Given the description of an element on the screen output the (x, y) to click on. 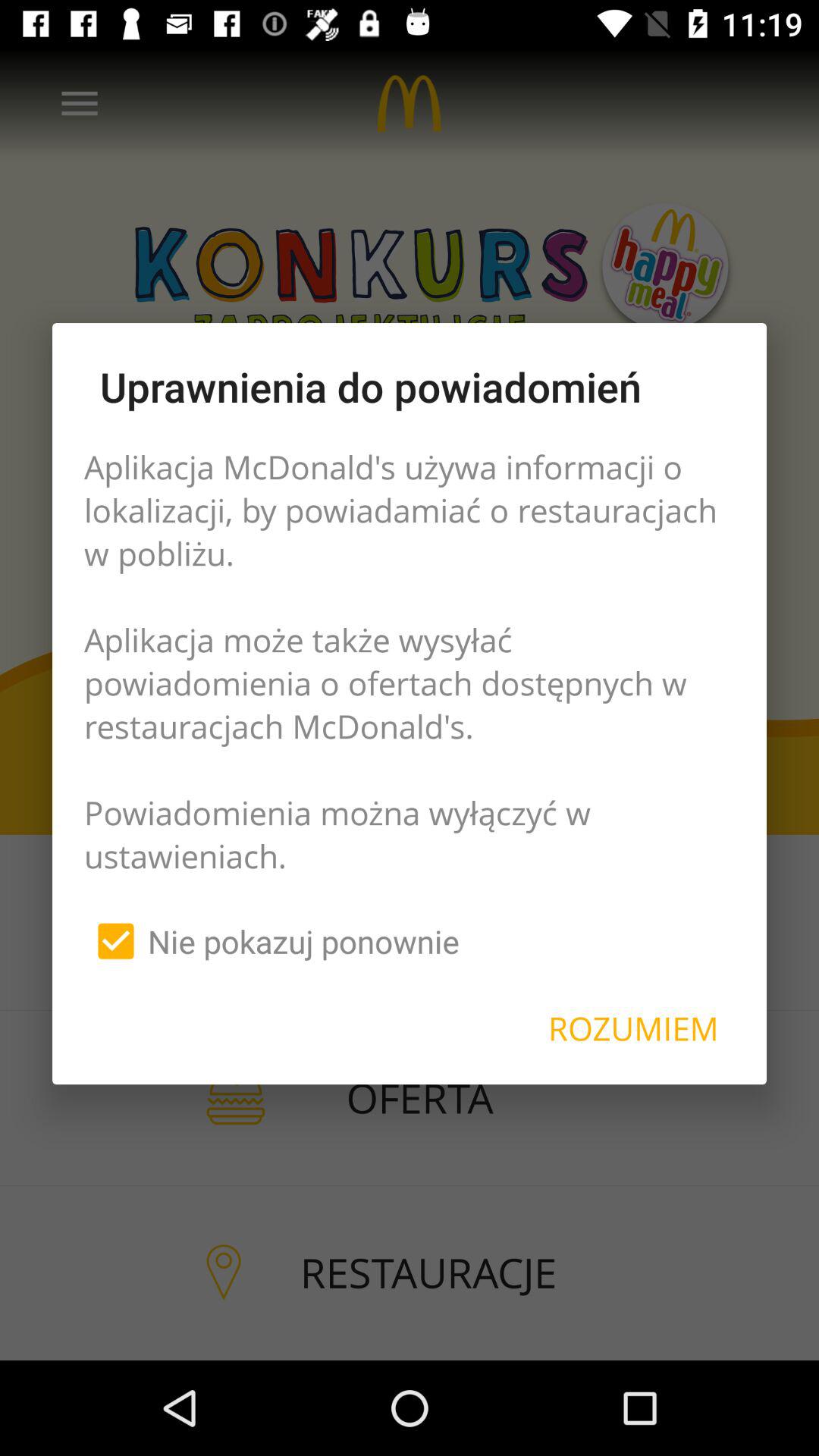
tap the icon below aplikacja mcdonald s (271, 941)
